Given the description of an element on the screen output the (x, y) to click on. 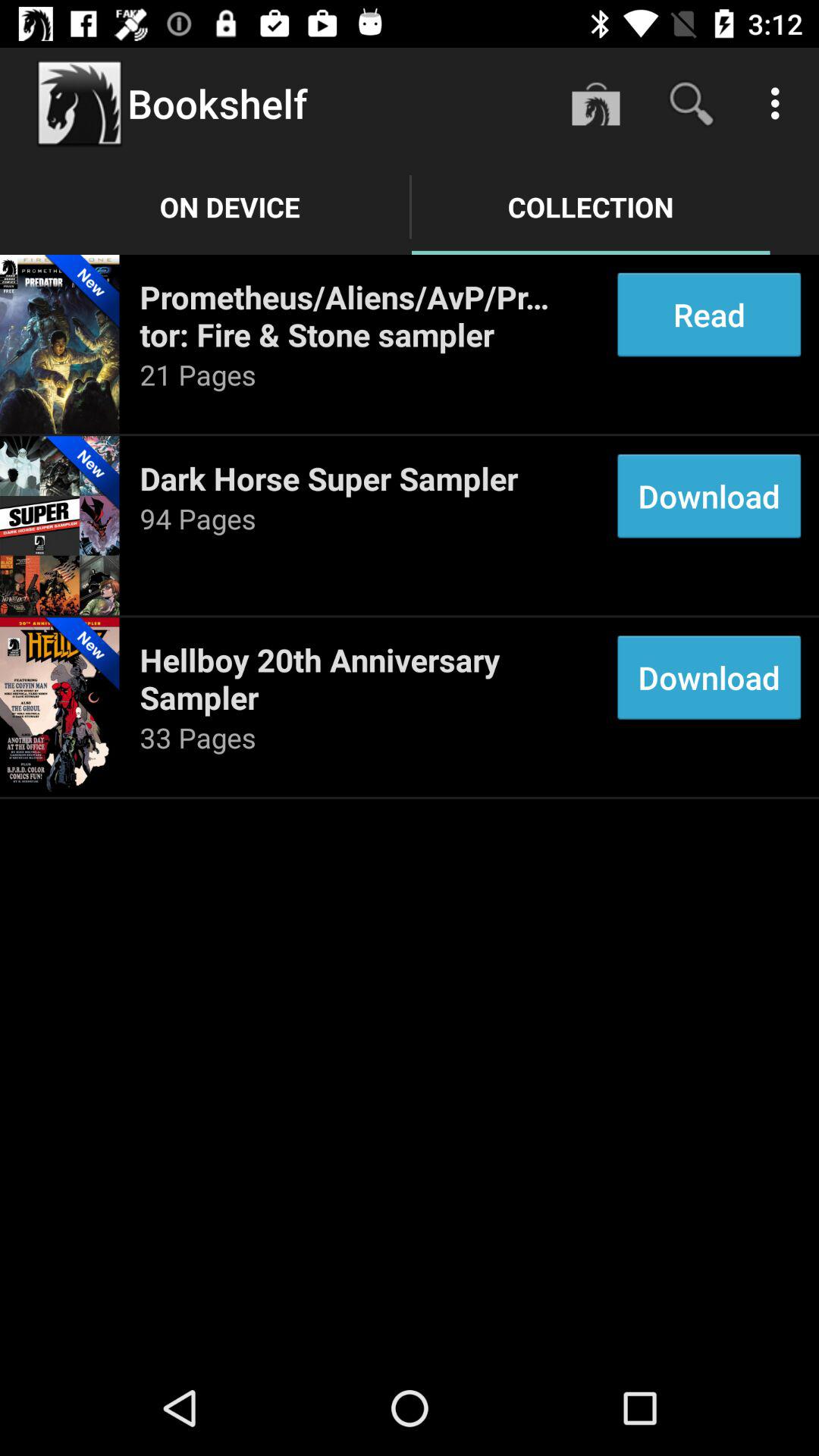
tap icon above collection item (691, 103)
